Given the description of an element on the screen output the (x, y) to click on. 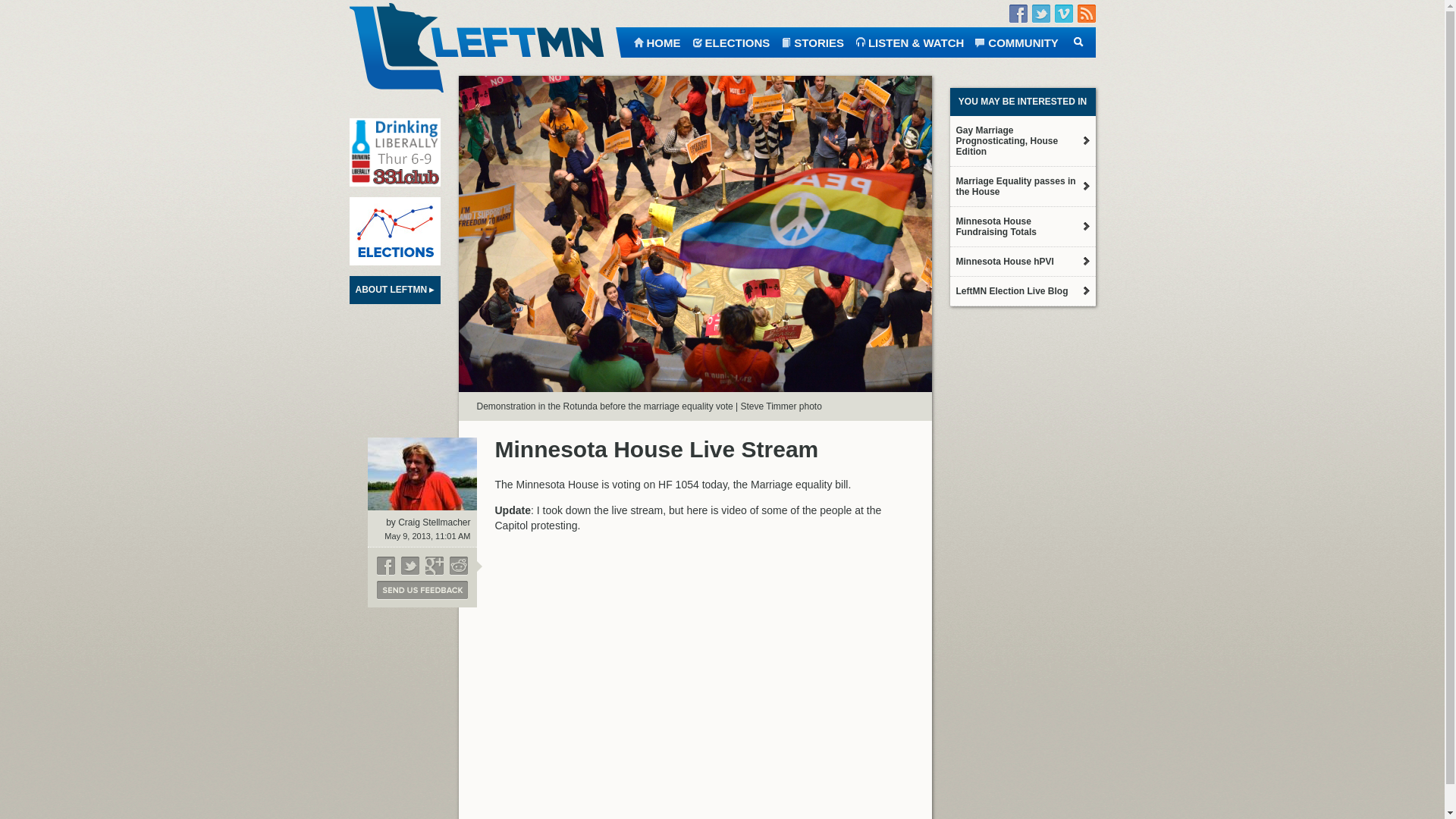
Facebook (1017, 13)
Twitter (1039, 13)
LeftMN Elections Site (394, 231)
Marriage Equality passes in the House (1021, 186)
HOME (655, 41)
Gay Marriage Prognosticating, House Edition (1021, 141)
Vimeo (1062, 13)
Minnesota House Fundraising Totals (1021, 226)
COMMUNITY (1016, 41)
STORIES (812, 41)
SEARCH (1077, 41)
Drinking Liberally Minneapolis (394, 151)
LeftMN Election Live Blog (1021, 290)
Minnesota House hPVI (1021, 261)
RSS (1085, 13)
